Given the description of an element on the screen output the (x, y) to click on. 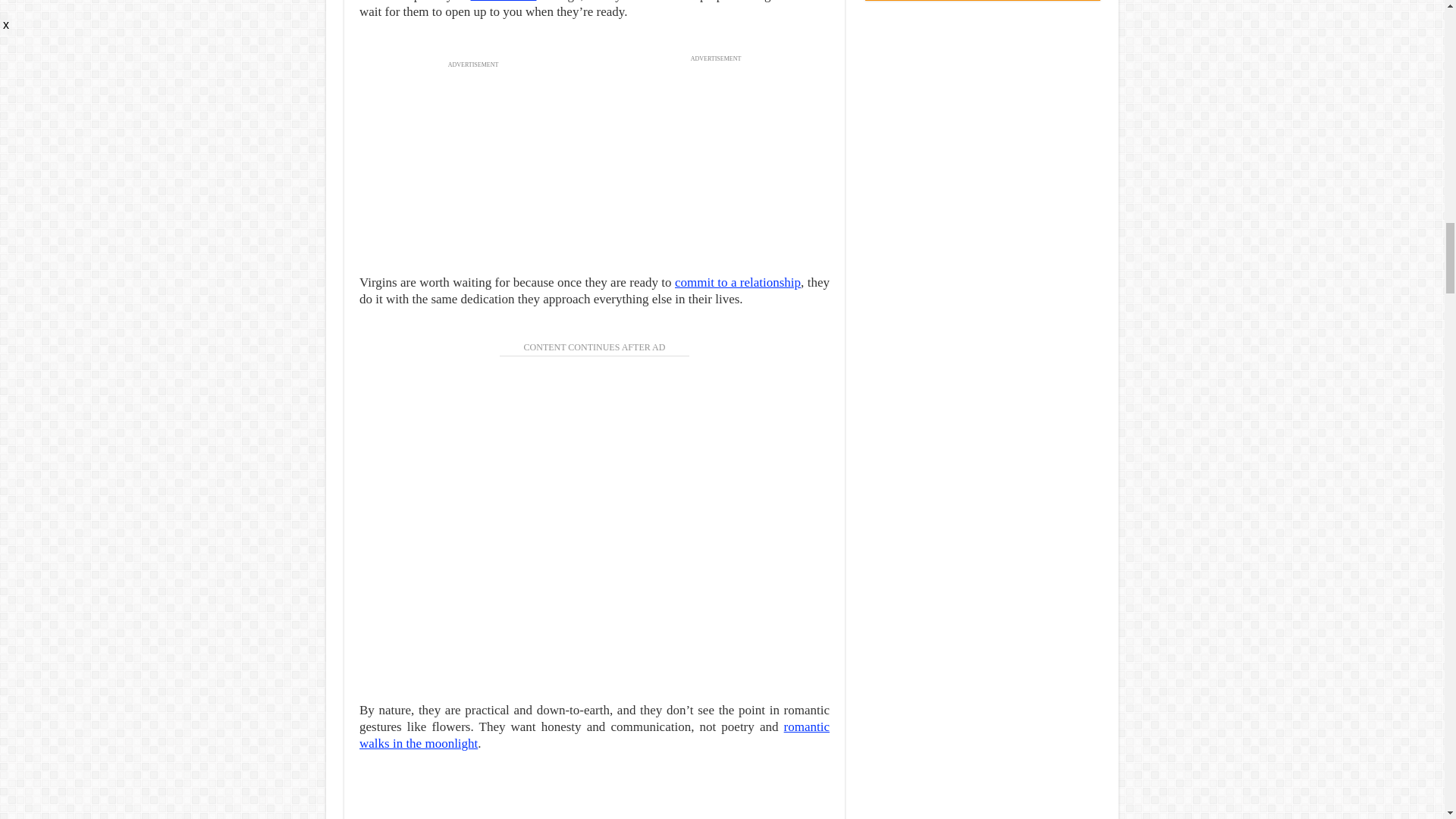
want to date (503, 1)
commit to a relationship (737, 282)
